Given the description of an element on the screen output the (x, y) to click on. 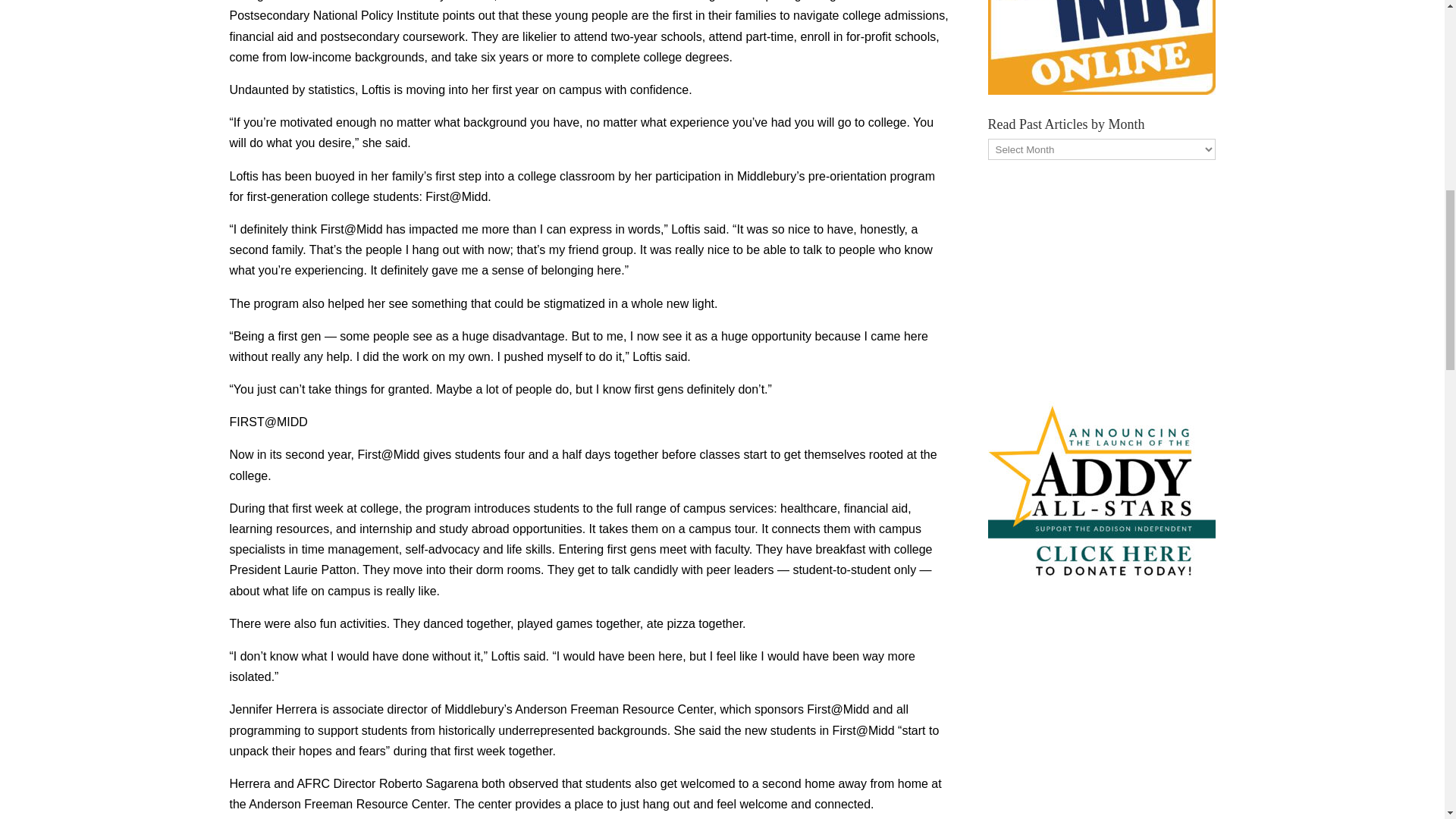
3rd party ad content (1100, 277)
